Given the description of an element on the screen output the (x, y) to click on. 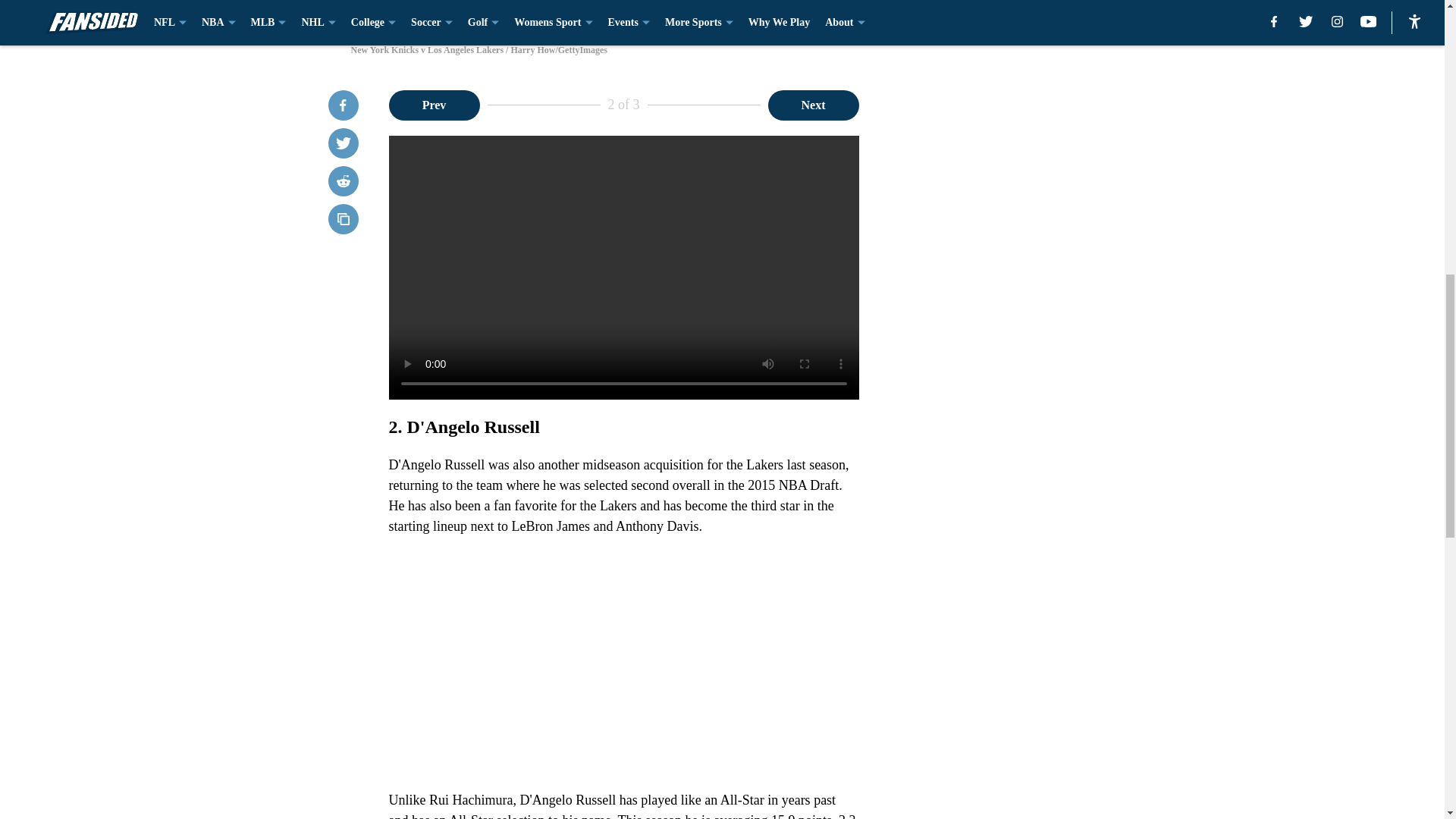
3rd party ad content (1047, 184)
New York Knicks v Los Angeles Lakers (721, 14)
3rd party ad content (1047, 403)
